Given the description of an element on the screen output the (x, y) to click on. 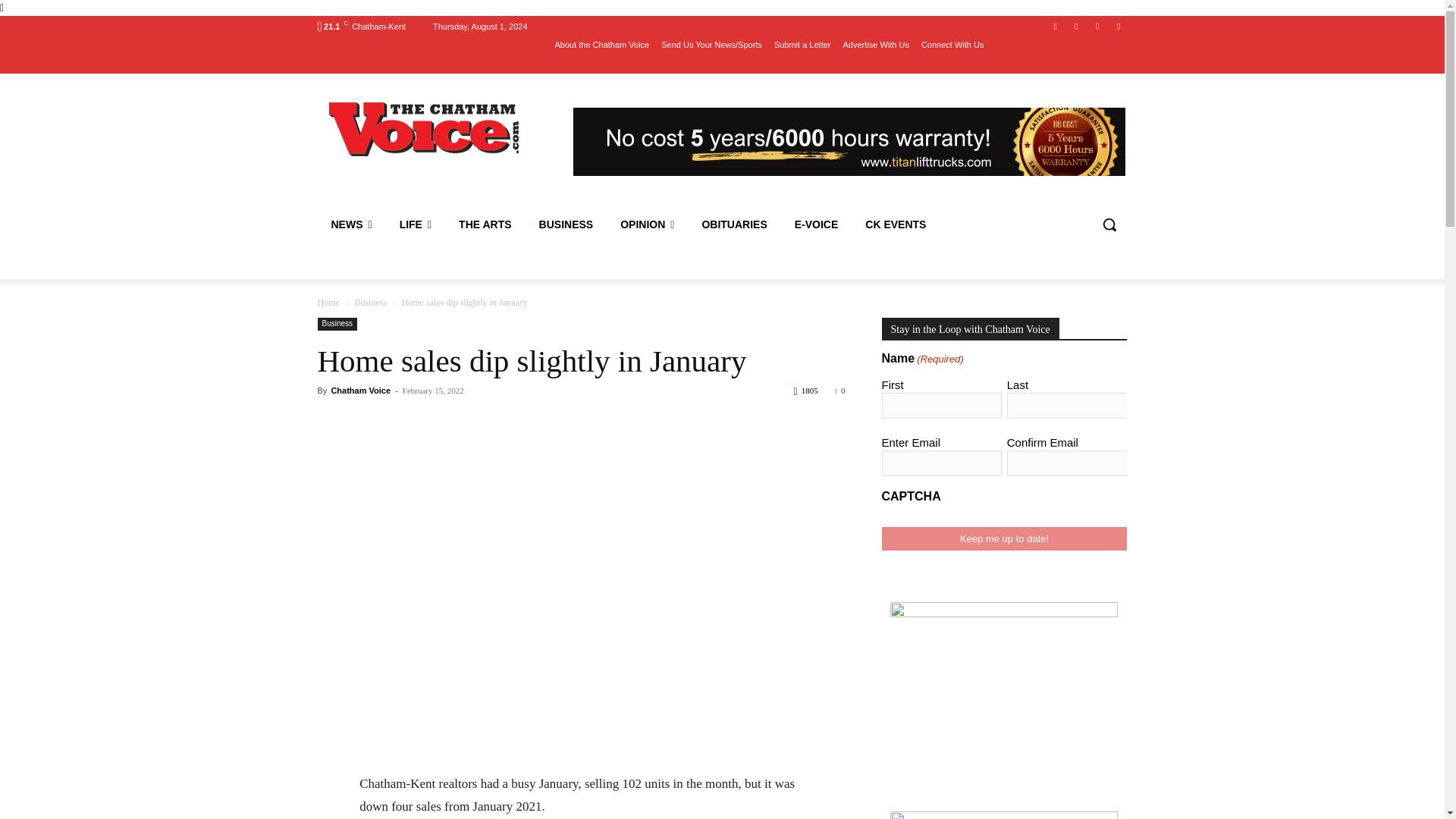
Facebook (1055, 27)
About the Chatham Voice (601, 44)
Keep me up to date! (1003, 538)
Submit a Letter (802, 44)
LIFE (415, 224)
Twitter (1097, 27)
Rss (1117, 27)
Chatham Voice (425, 128)
NEWS (351, 224)
THE ARTS (484, 224)
Connect With Us (952, 44)
BUSINESS (566, 224)
Advertise With Us (875, 44)
Chatham Voice (426, 128)
OPINION (647, 224)
